Given the description of an element on the screen output the (x, y) to click on. 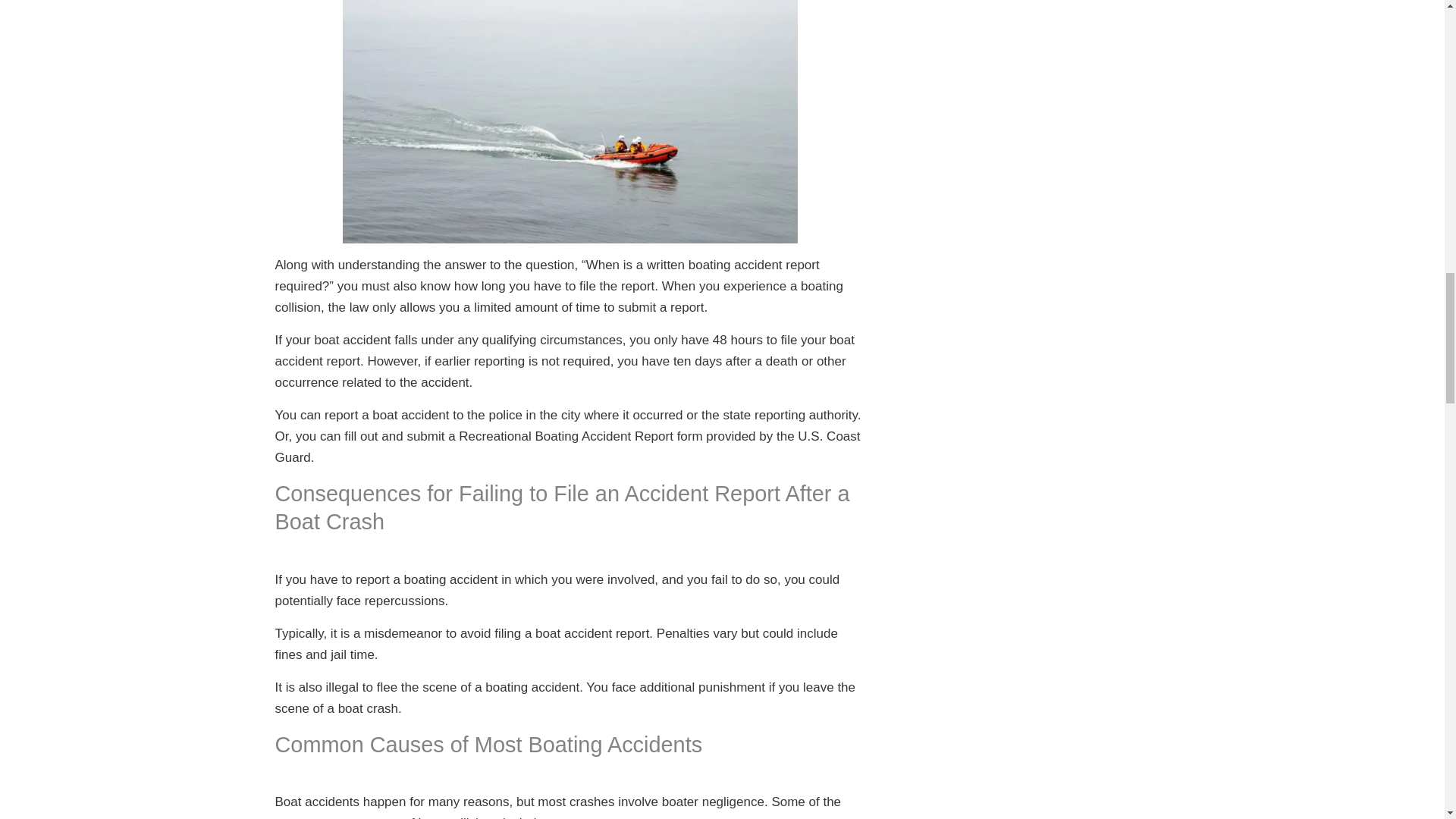
when is a written boating accident report required (569, 121)
